Given the description of an element on the screen output the (x, y) to click on. 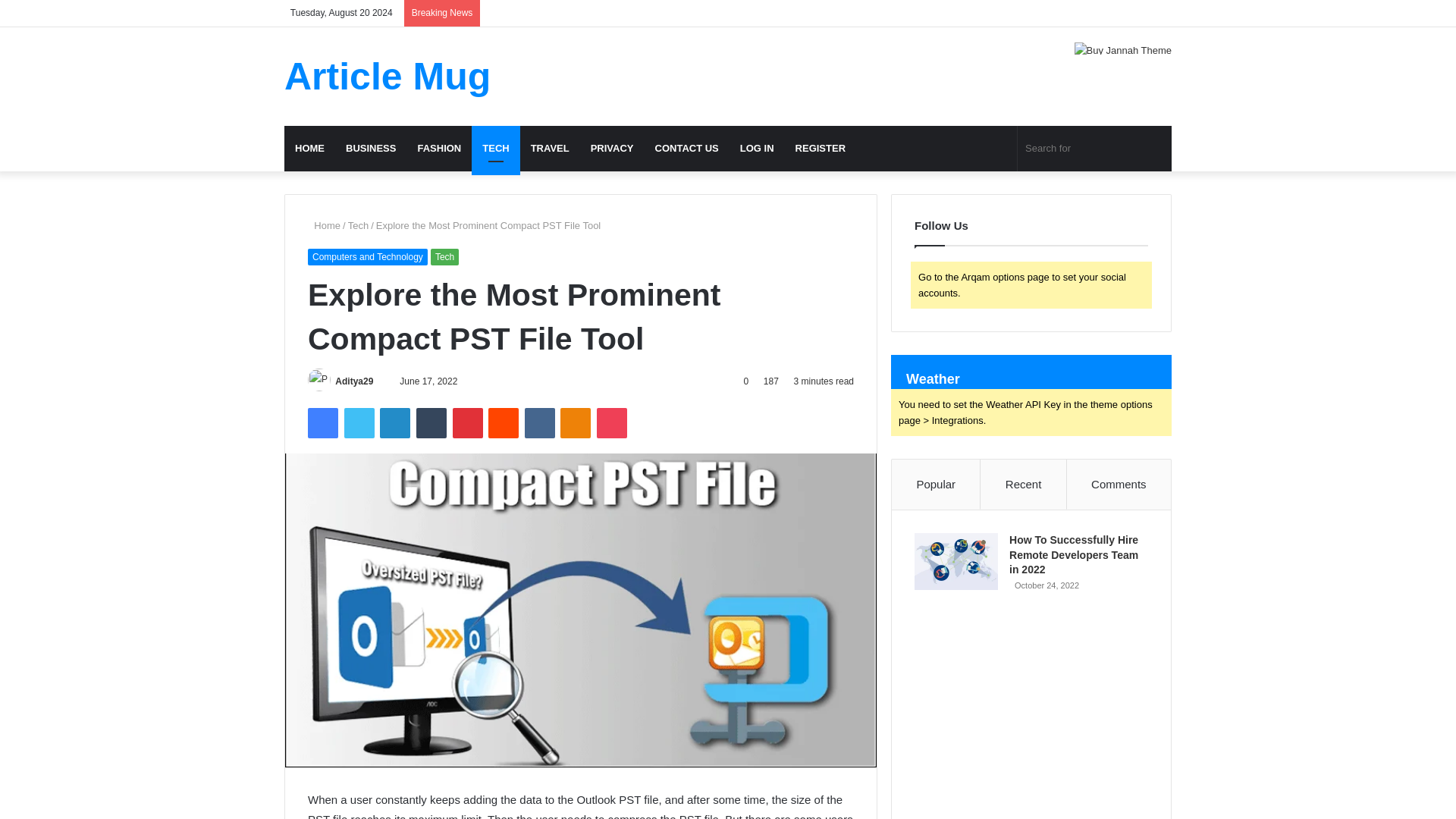
PRIVACY (612, 148)
FASHION (438, 148)
Article Mug (386, 76)
CONTACT US (687, 148)
TECH (495, 148)
Article Mug (386, 76)
Random Article (1136, 6)
Sidebar (1160, 6)
HOME (308, 148)
BUSINESS (370, 148)
